Given the description of an element on the screen output the (x, y) to click on. 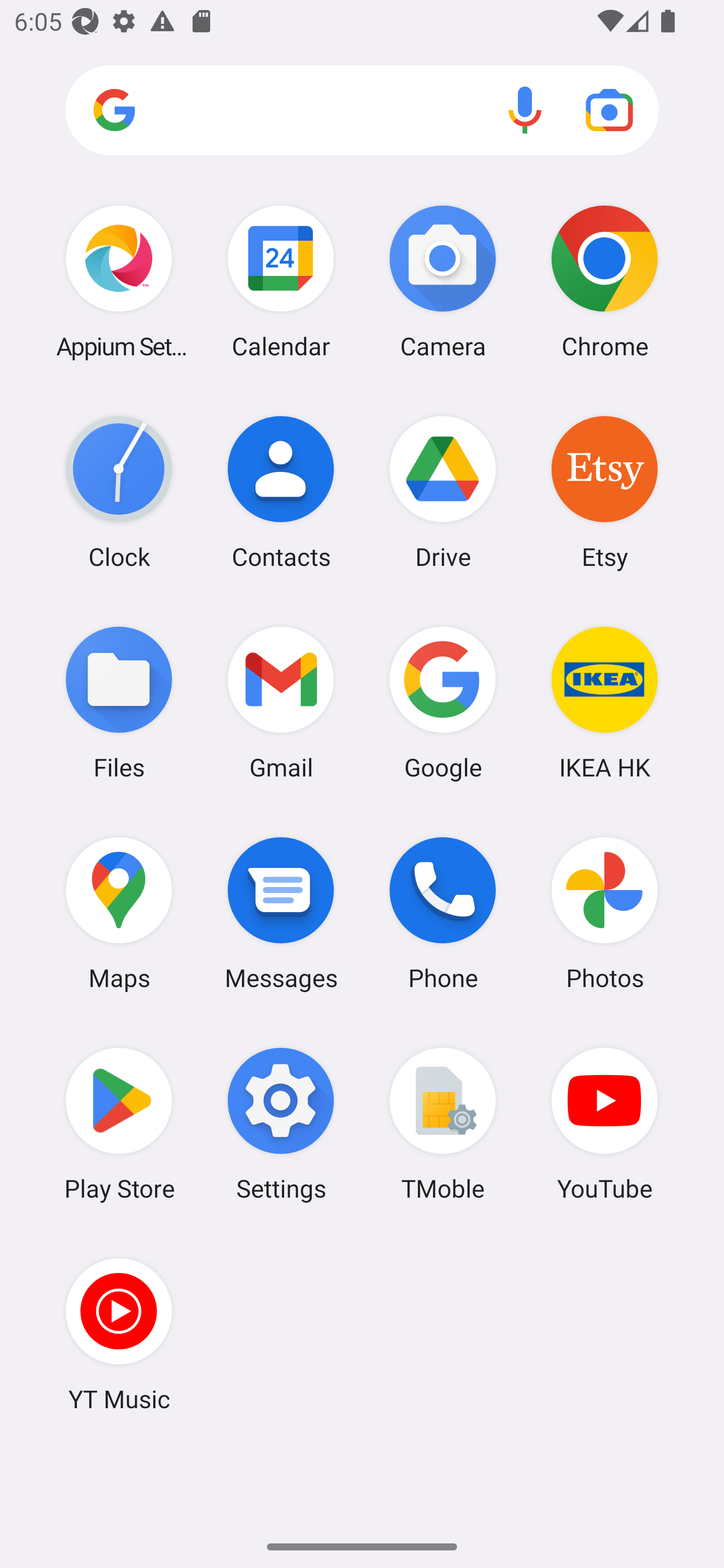
Search apps, web and more (361, 110)
Voice search (524, 109)
Google Lens (608, 109)
Appium Settings (118, 281)
Calendar (280, 281)
Camera (443, 281)
Chrome (604, 281)
Clock (118, 492)
Contacts (280, 492)
Drive (443, 492)
Etsy (604, 492)
Files (118, 702)
Gmail (280, 702)
Google (443, 702)
IKEA HK (604, 702)
Maps (118, 913)
Messages (280, 913)
Phone (443, 913)
Photos (604, 913)
Play Store (118, 1124)
Settings (280, 1124)
TMoble (443, 1124)
YouTube (604, 1124)
YT Music (118, 1334)
